Given the description of an element on the screen output the (x, y) to click on. 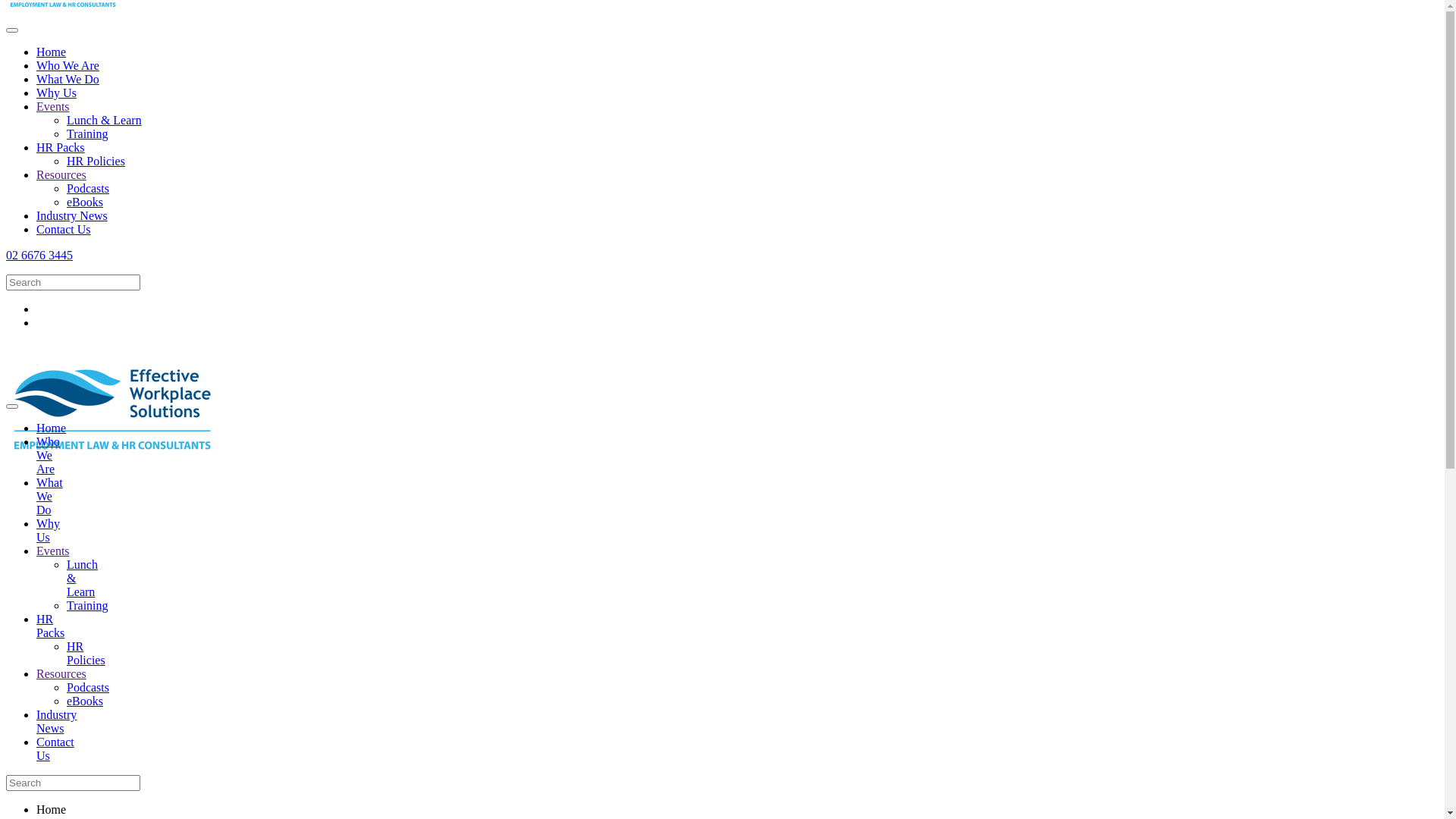
Resources Element type: text (61, 673)
What We Do Element type: text (67, 78)
eBooks Element type: text (84, 201)
Lunch & Learn Element type: text (81, 578)
Lunch & Learn Element type: text (103, 119)
Training Element type: text (87, 605)
Contact Us Element type: text (63, 228)
02 6676 3445 Element type: text (39, 254)
Home Element type: text (50, 427)
eBooks Element type: text (84, 700)
Training Element type: text (87, 133)
Industry News Element type: text (56, 721)
Events Element type: text (52, 106)
Why Us Element type: text (47, 530)
Podcasts Element type: text (87, 686)
Events Element type: text (52, 550)
Podcasts Element type: text (87, 188)
02 6676 3445 Element type: text (722, 372)
Resources Element type: text (61, 174)
Who We Are Element type: text (67, 65)
Who We Are Element type: text (47, 455)
HR Packs Element type: text (50, 625)
HR Packs Element type: text (60, 147)
HR Policies Element type: text (95, 160)
HR Policies Element type: text (85, 653)
Home Element type: text (50, 51)
Contact Us Element type: text (55, 748)
Why Us Element type: text (56, 92)
What We Do Element type: text (49, 496)
Industry News Element type: text (71, 215)
